Given the description of an element on the screen output the (x, y) to click on. 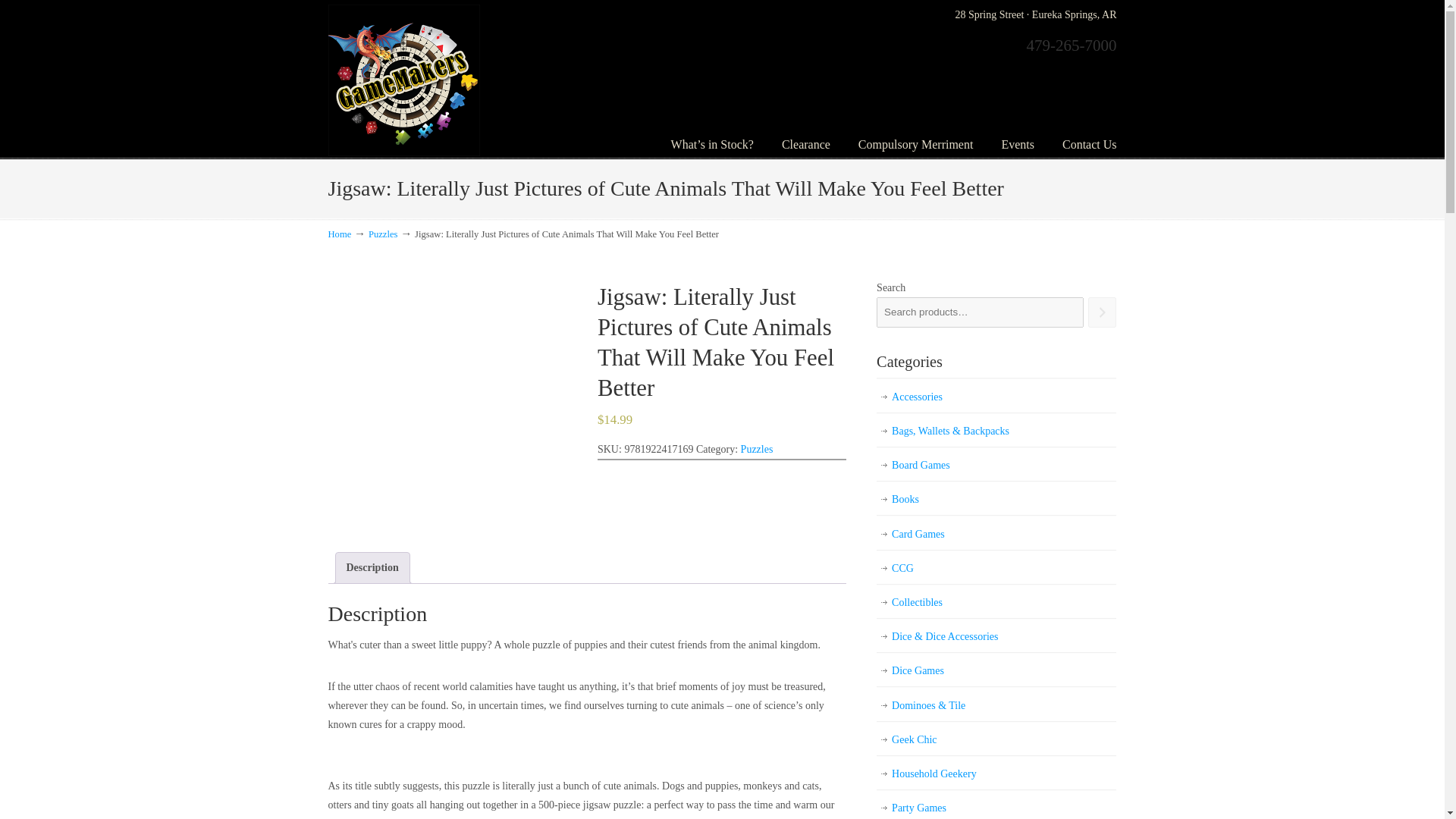
Puzzles (757, 449)
Board Games (996, 464)
Contact Us (1089, 144)
GameMakers (403, 80)
Geek Chic (996, 739)
Books (996, 499)
Home (338, 234)
Collectibles (996, 602)
Description (371, 567)
GameMakers (403, 80)
